Given the description of an element on the screen output the (x, y) to click on. 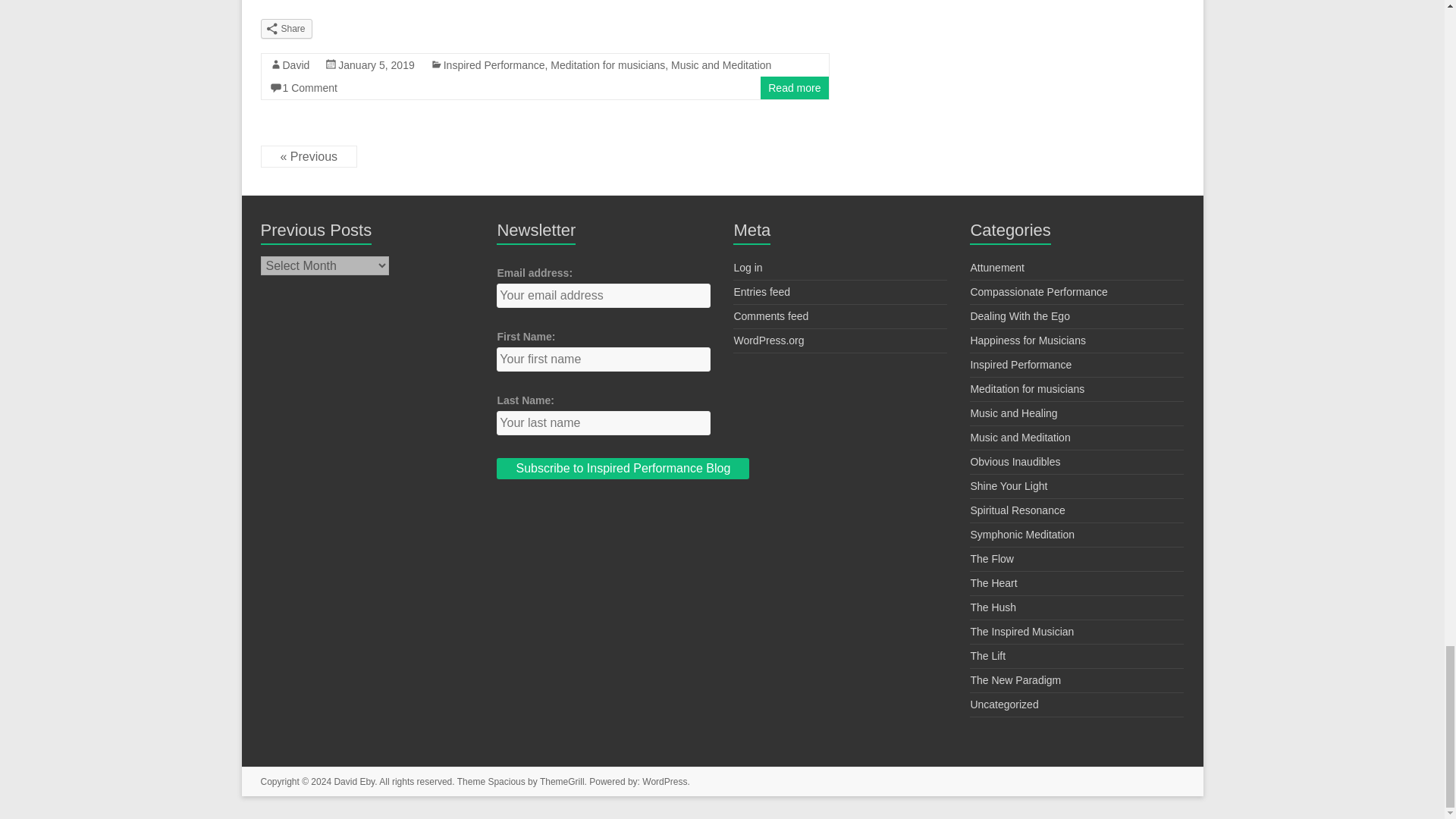
Subscribe to Inspired Performance Blog (622, 468)
